Given the description of an element on the screen output the (x, y) to click on. 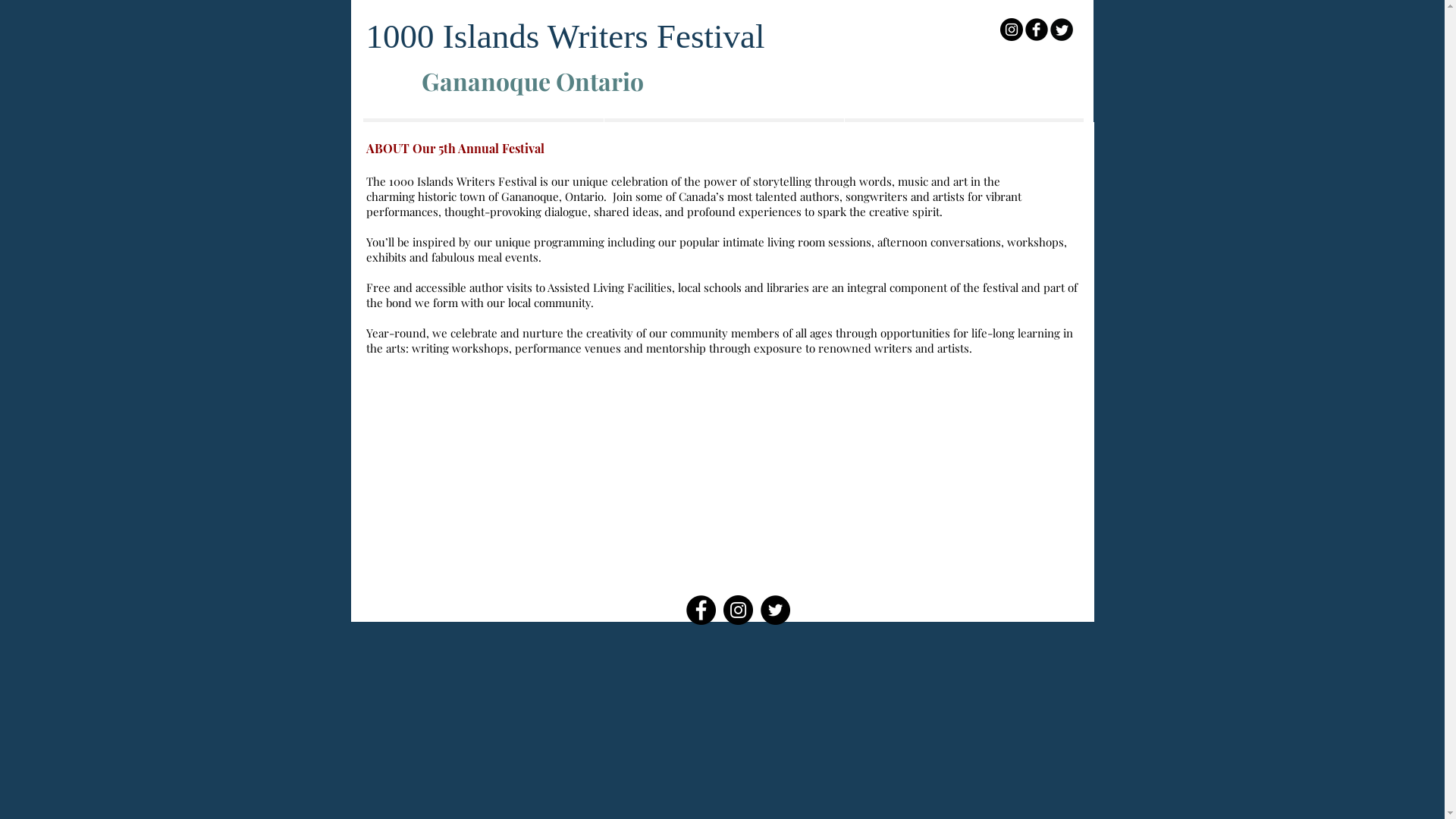
A Day of (funny) Stories Oct 29 2022 Element type: text (723, 129)
Instagram Feeds Element type: hover (721, 479)
Home Element type: text (482, 129)
1000 Islands Writers Festival Element type: text (564, 36)
Gananoque Ontario  Element type: text (535, 80)
